Given the description of an element on the screen output the (x, y) to click on. 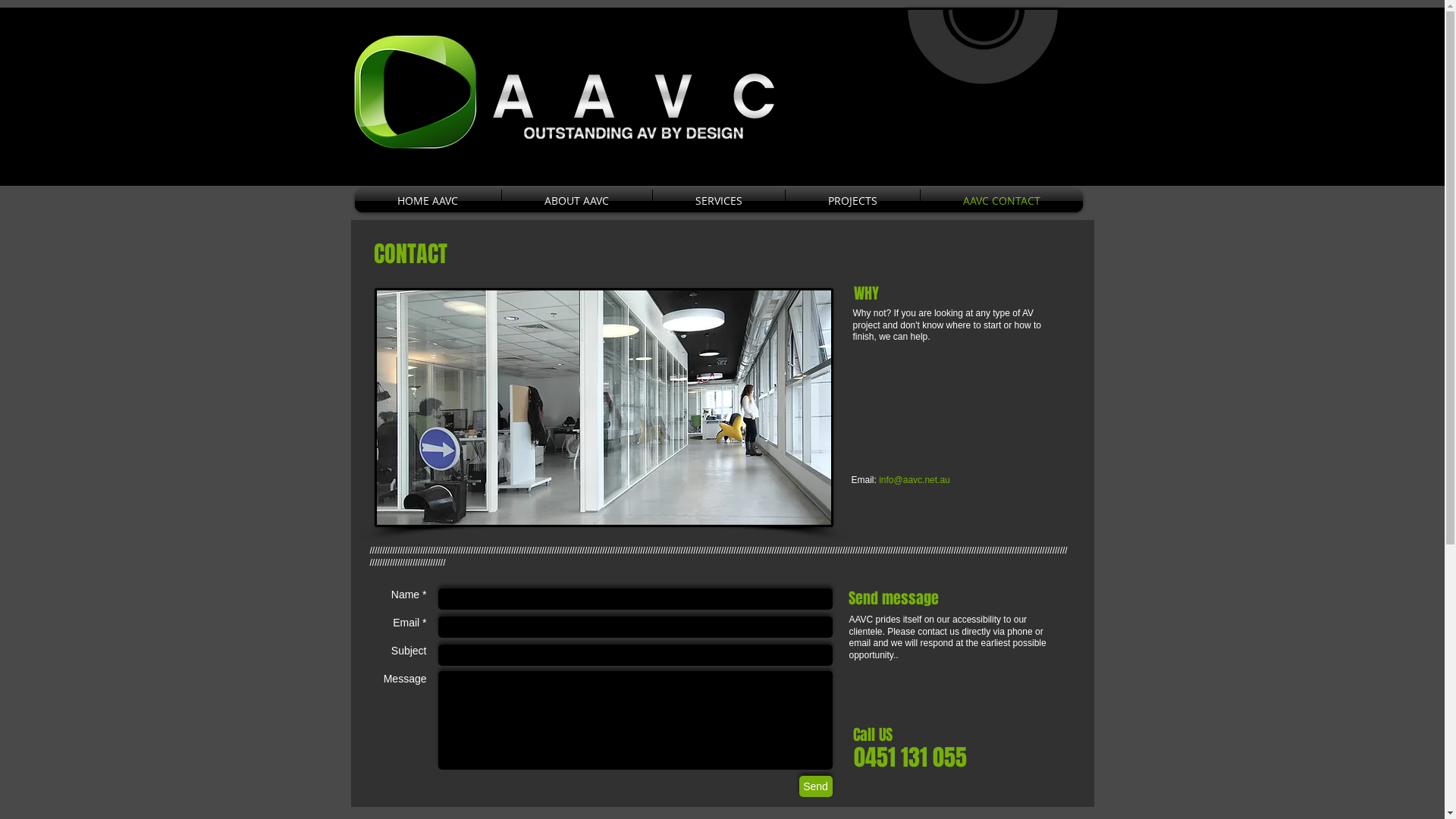
HOME AAVC Element type: text (427, 200)
SERVICES Element type: text (718, 200)
info@aavc.net.au Element type: text (914, 479)
PROJECTS Element type: text (852, 200)
Send Element type: text (815, 786)
AAVC CONTACT Element type: text (1001, 200)
ABOUT AAVC Element type: text (577, 200)
